Given the description of an element on the screen output the (x, y) to click on. 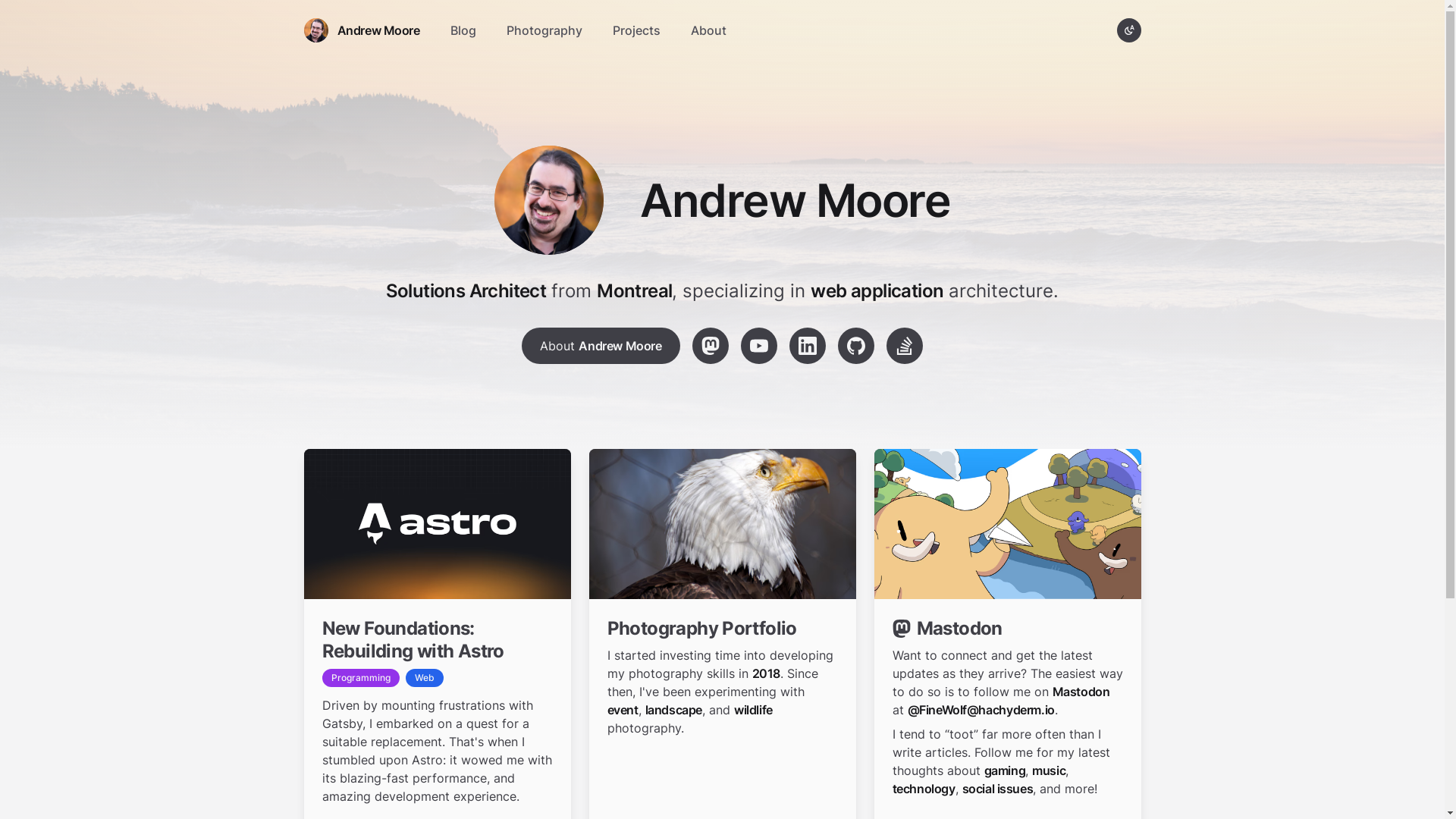
GitHub Element type: hover (855, 345)
YouTube Element type: hover (758, 345)
Mastodon Element type: hover (710, 345)
Andrew Moore Element type: text (361, 30)
Projects Element type: text (636, 30)
Stack Overflow Element type: hover (904, 345)
About Andrew Moore Element type: text (600, 345)
Blog Element type: text (463, 30)
Photography Element type: text (544, 30)
LinkedIn Element type: hover (807, 345)
About Element type: text (708, 30)
